Given the description of an element on the screen output the (x, y) to click on. 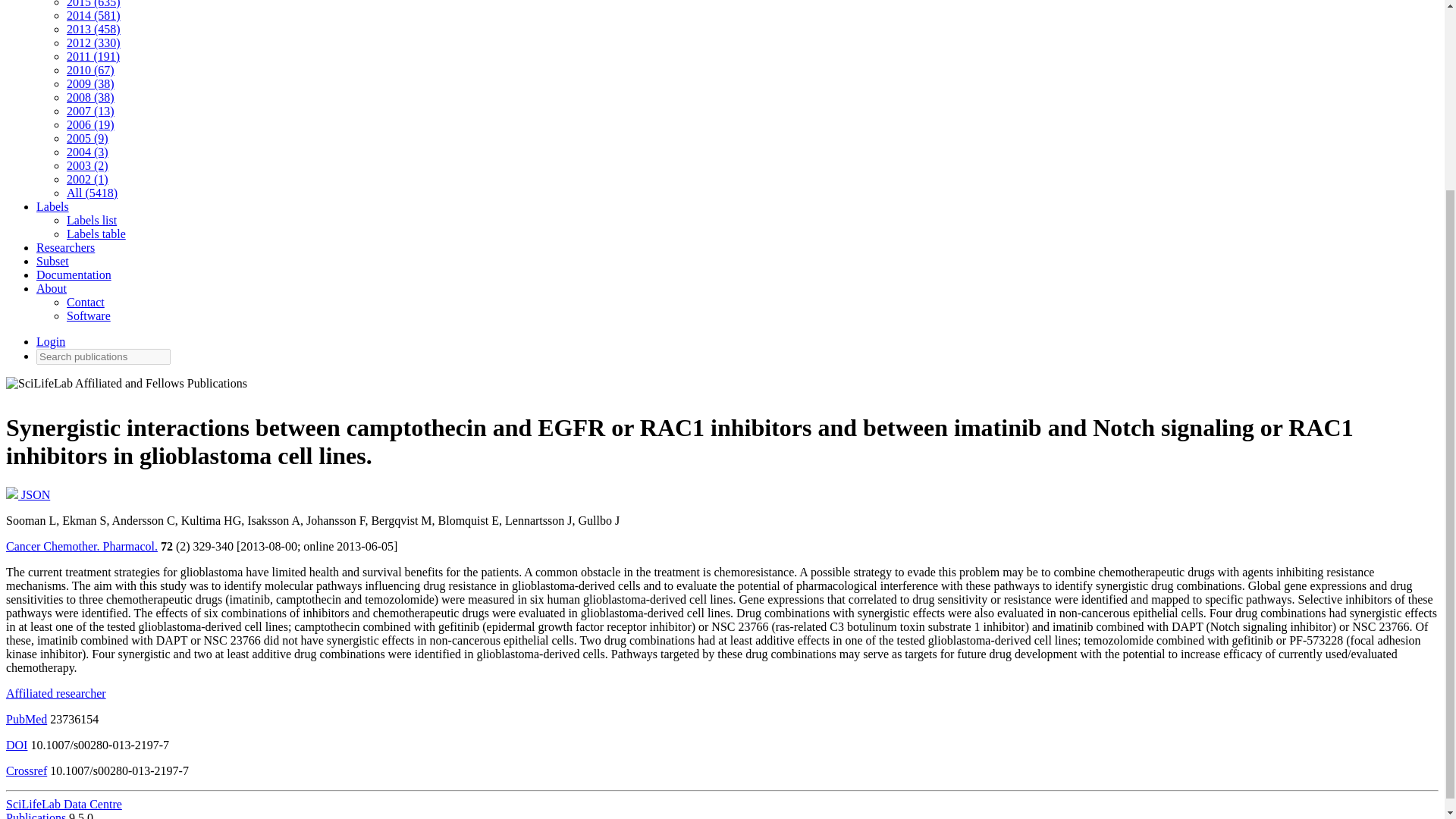
Labels list (91, 219)
Software (88, 315)
Login (50, 341)
Labels table (95, 233)
Documentation (74, 274)
SciLifeLab Affiliated and Fellows Publications (126, 387)
Labels (52, 205)
About (51, 287)
Subset (52, 260)
Researchers (65, 246)
Contact (85, 301)
